Given the description of an element on the screen output the (x, y) to click on. 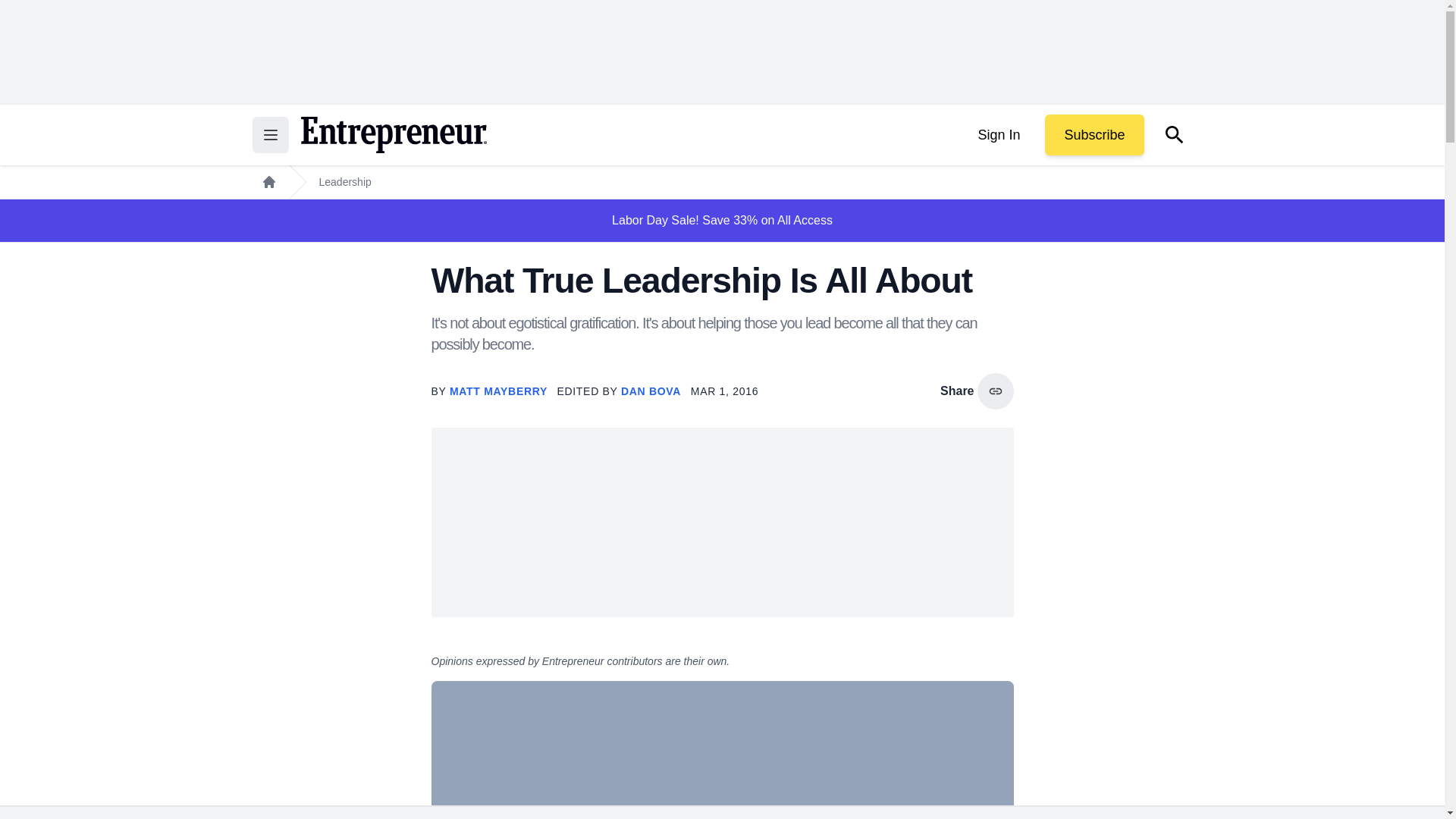
copy (994, 391)
Subscribe (1093, 134)
Return to the home page (392, 135)
Sign In (998, 134)
